Given the description of an element on the screen output the (x, y) to click on. 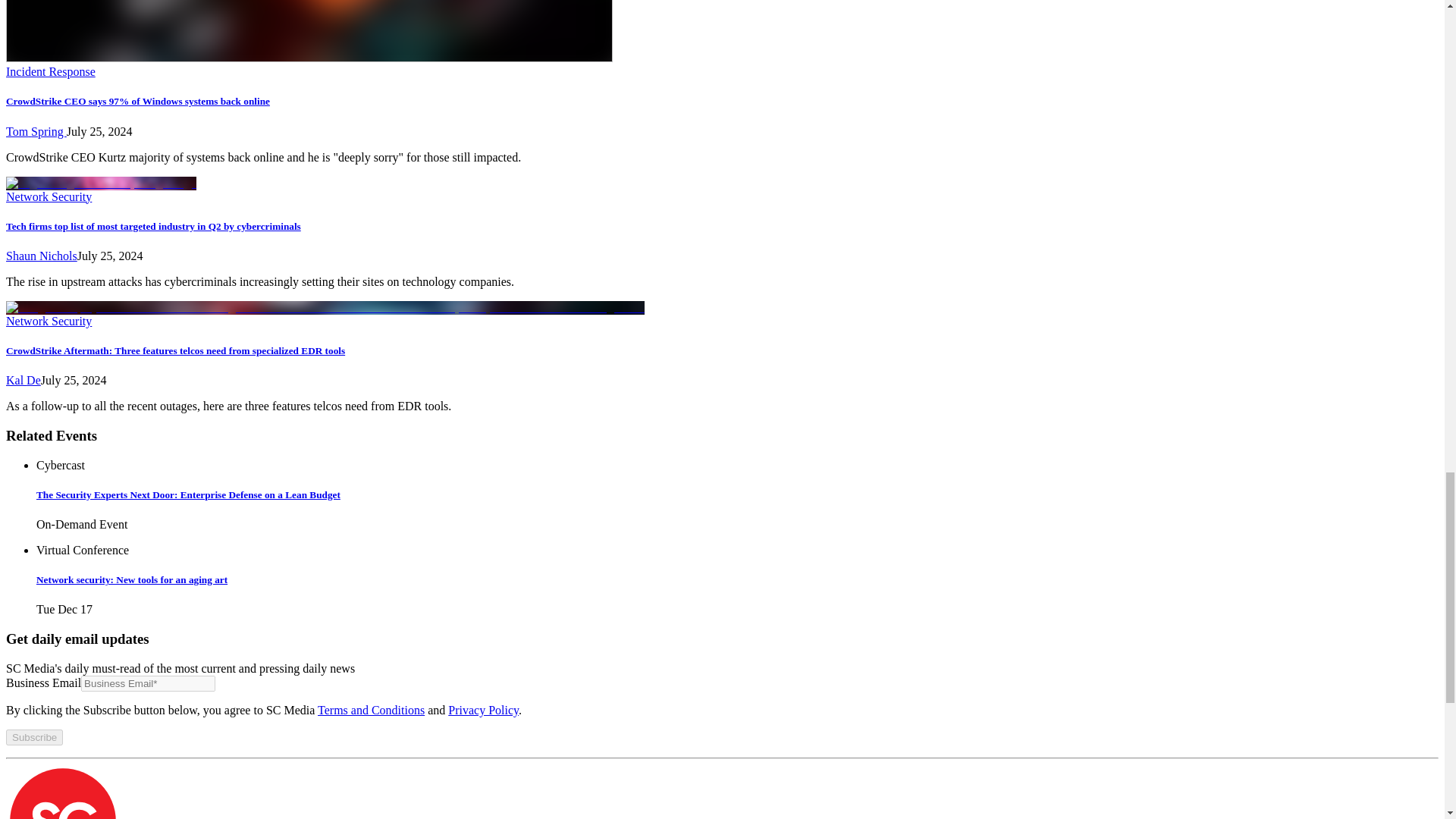
Subscribe (33, 737)
Incident Response (50, 71)
Shaun Nichols (41, 255)
Network Security (48, 320)
Network Security (48, 196)
Tom Spring (35, 131)
Terms and Conditions (371, 709)
Privacy Policy (483, 709)
Kal De (22, 379)
